Given the description of an element on the screen output the (x, y) to click on. 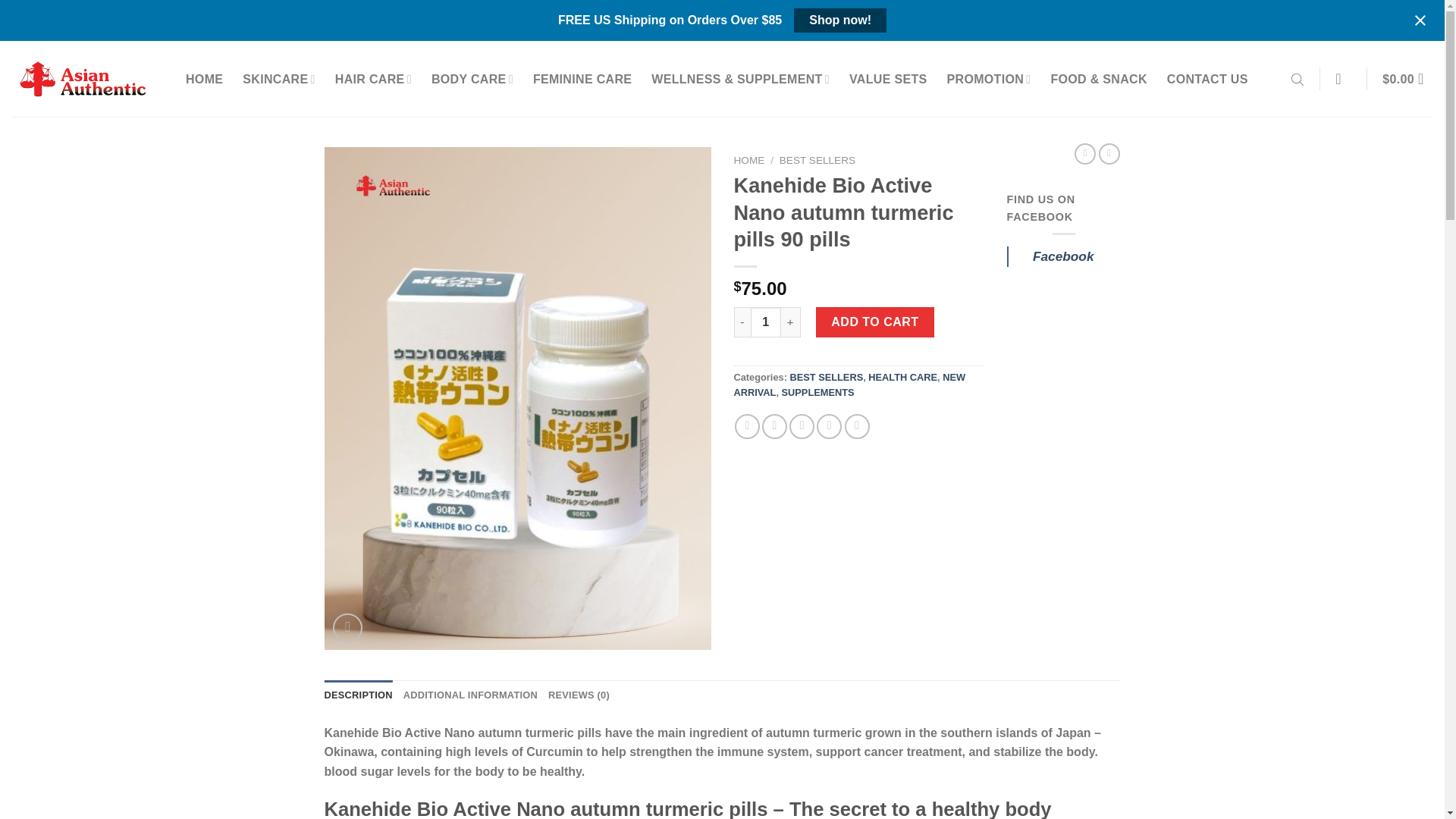
BODY CARE (471, 79)
Cart (1406, 79)
1 (765, 322)
Asian Authentic (87, 78)
Shop now! (839, 20)
Qty (765, 322)
SKINCARE (278, 79)
FEMININE CARE (581, 79)
HOME (204, 79)
HAIR CARE (373, 79)
